Given the description of an element on the screen output the (x, y) to click on. 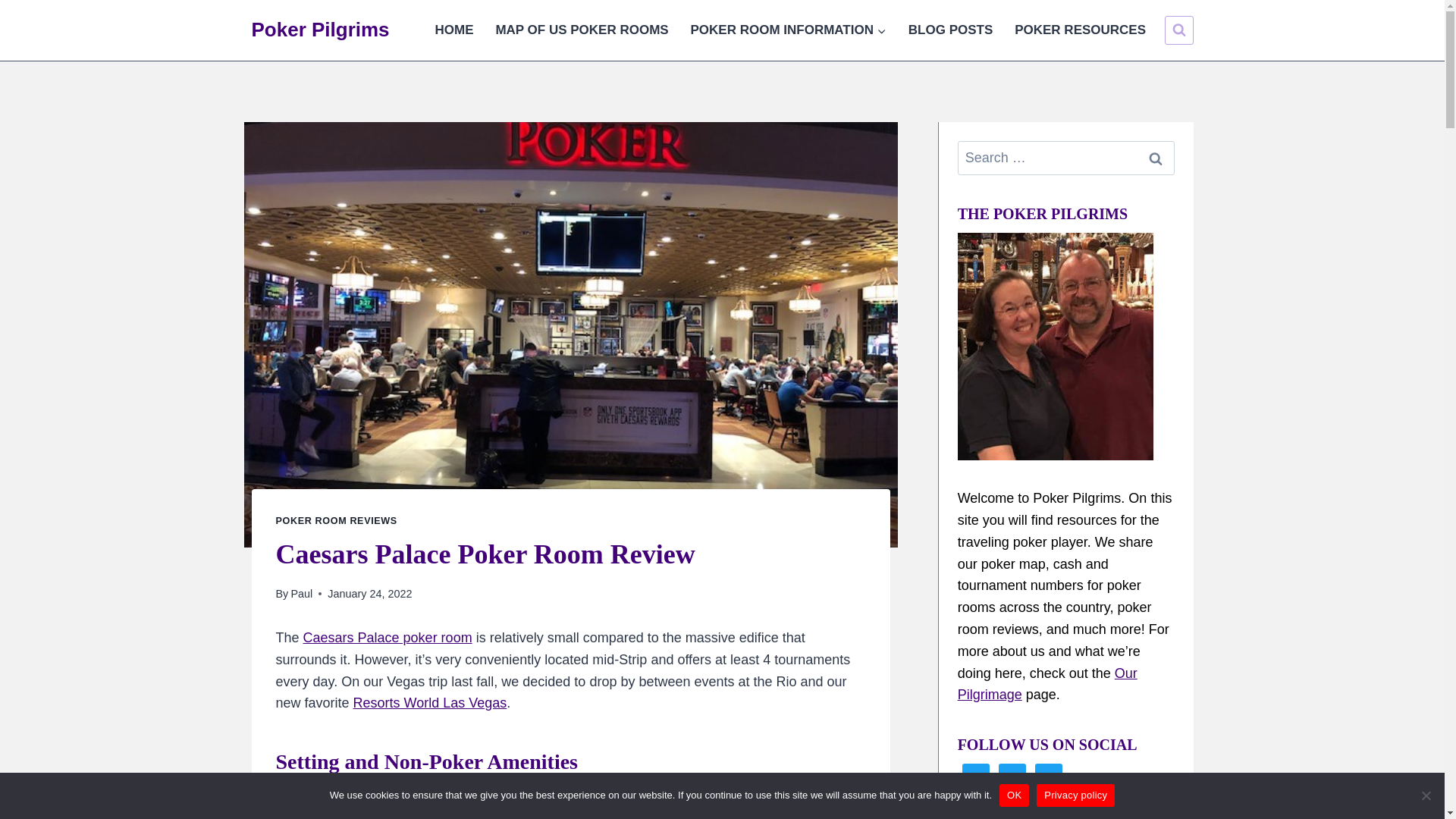
BLOG POSTS (949, 30)
HOME (453, 30)
Resorts World Las Vegas (429, 702)
Poker Pilgrims (320, 29)
Search (1154, 157)
Paul (301, 593)
POKER ROOM REVIEWS (336, 520)
POKER ROOM INFORMATION (787, 30)
Caesars Palace poker room (386, 637)
No (1425, 795)
Search (1154, 157)
MAP OF US POKER ROOMS (581, 30)
POKER RESOURCES (1080, 30)
